Given the description of an element on the screen output the (x, y) to click on. 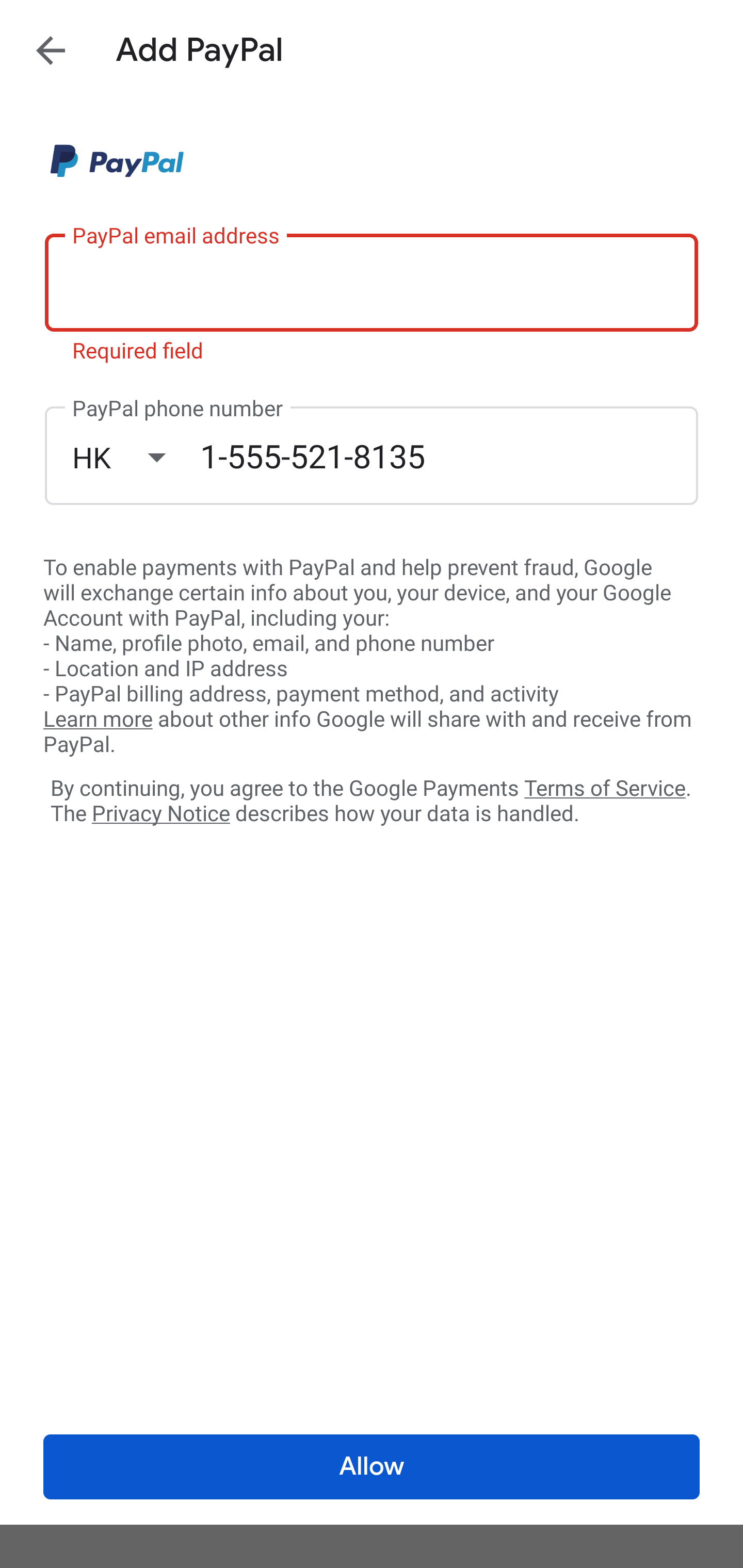
Navigate up (50, 50)
HK (135, 456)
Learn more (97, 719)
Terms of Service (604, 787)
Privacy Notice (160, 814)
Allow (371, 1466)
